Given the description of an element on the screen output the (x, y) to click on. 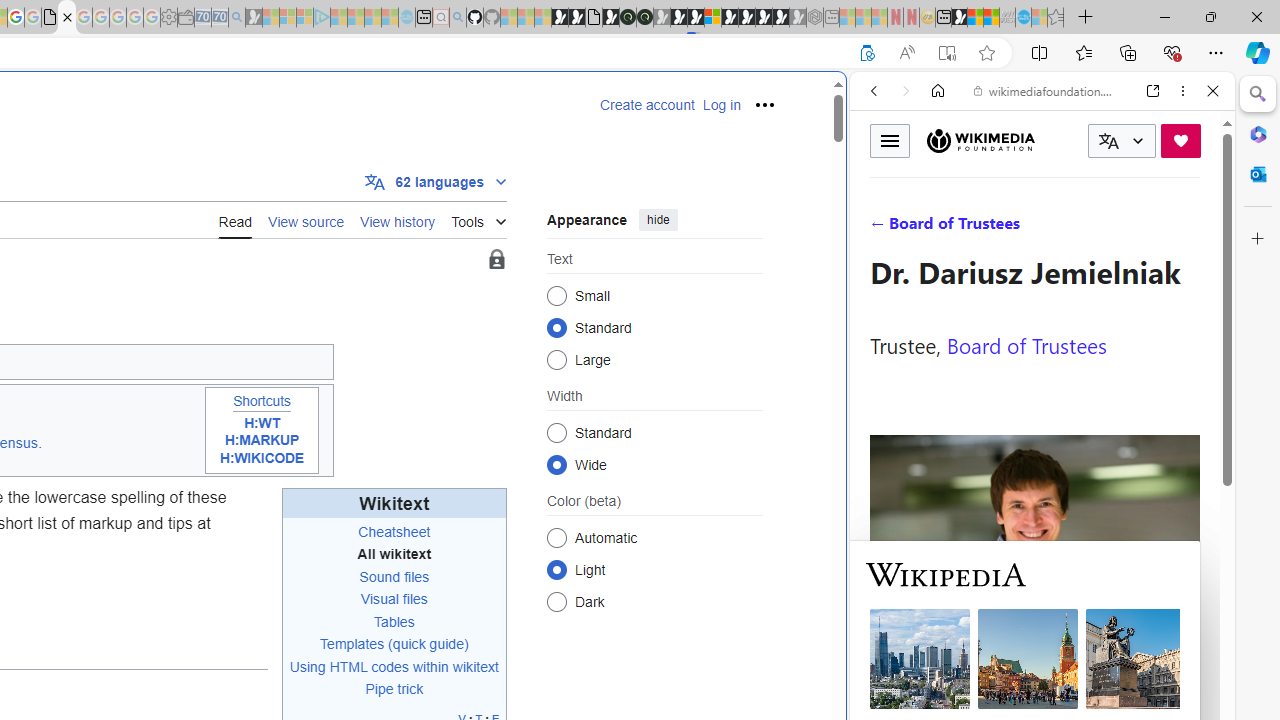
Search Filter, VIDEOS (1006, 228)
Search the web (1051, 137)
Global web icon (888, 669)
CURRENT LANGUAGE: (1121, 141)
Close Outlook pane (1258, 174)
Sound files (394, 576)
New tab - Sleeping (831, 17)
Sound files (394, 576)
Tables (393, 621)
H:MARKUP (262, 441)
SEARCH TOOLS (1093, 228)
